Given the description of an element on the screen output the (x, y) to click on. 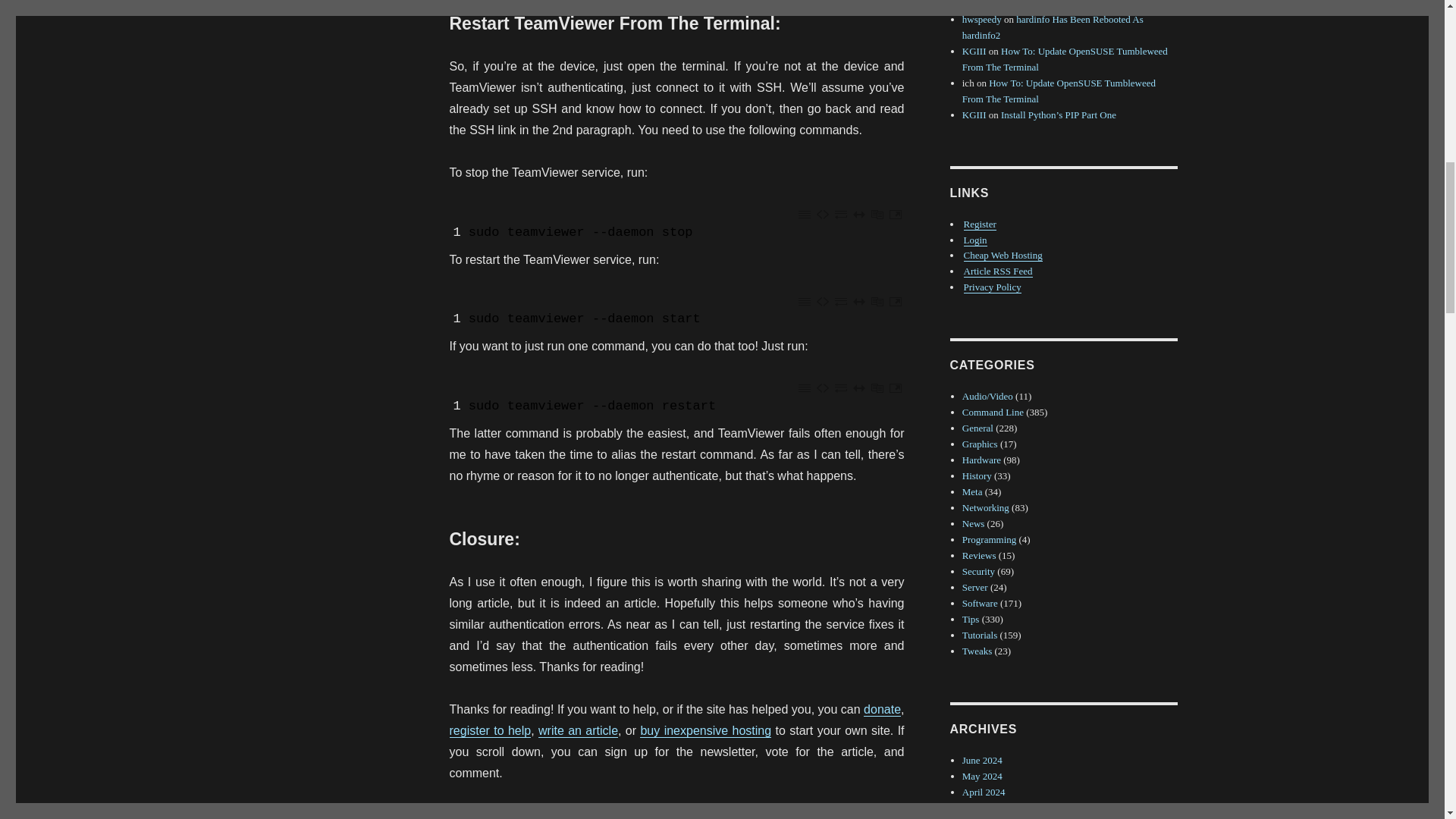
write an article (577, 730)
Toggle Line Wrap (839, 214)
Toggle Plain Code (821, 214)
Open Code In New Window (894, 214)
register to help (489, 730)
Expand Code (857, 214)
Toggle Line Numbers (803, 214)
donate (882, 708)
buy inexpensive hosting (705, 730)
Copy (876, 214)
